Given the description of an element on the screen output the (x, y) to click on. 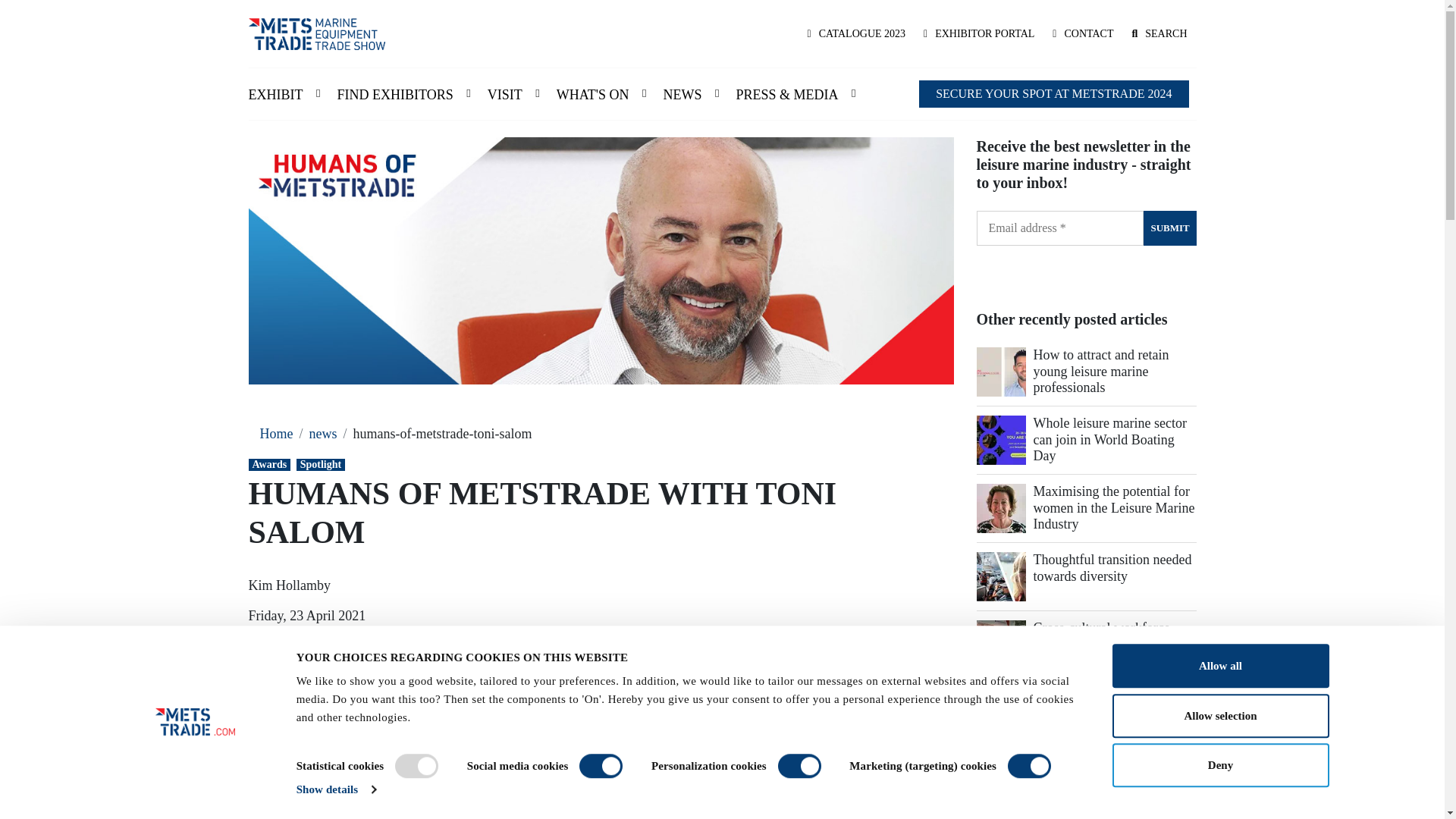
Show details (336, 789)
Submit (1169, 227)
